Given the description of an element on the screen output the (x, y) to click on. 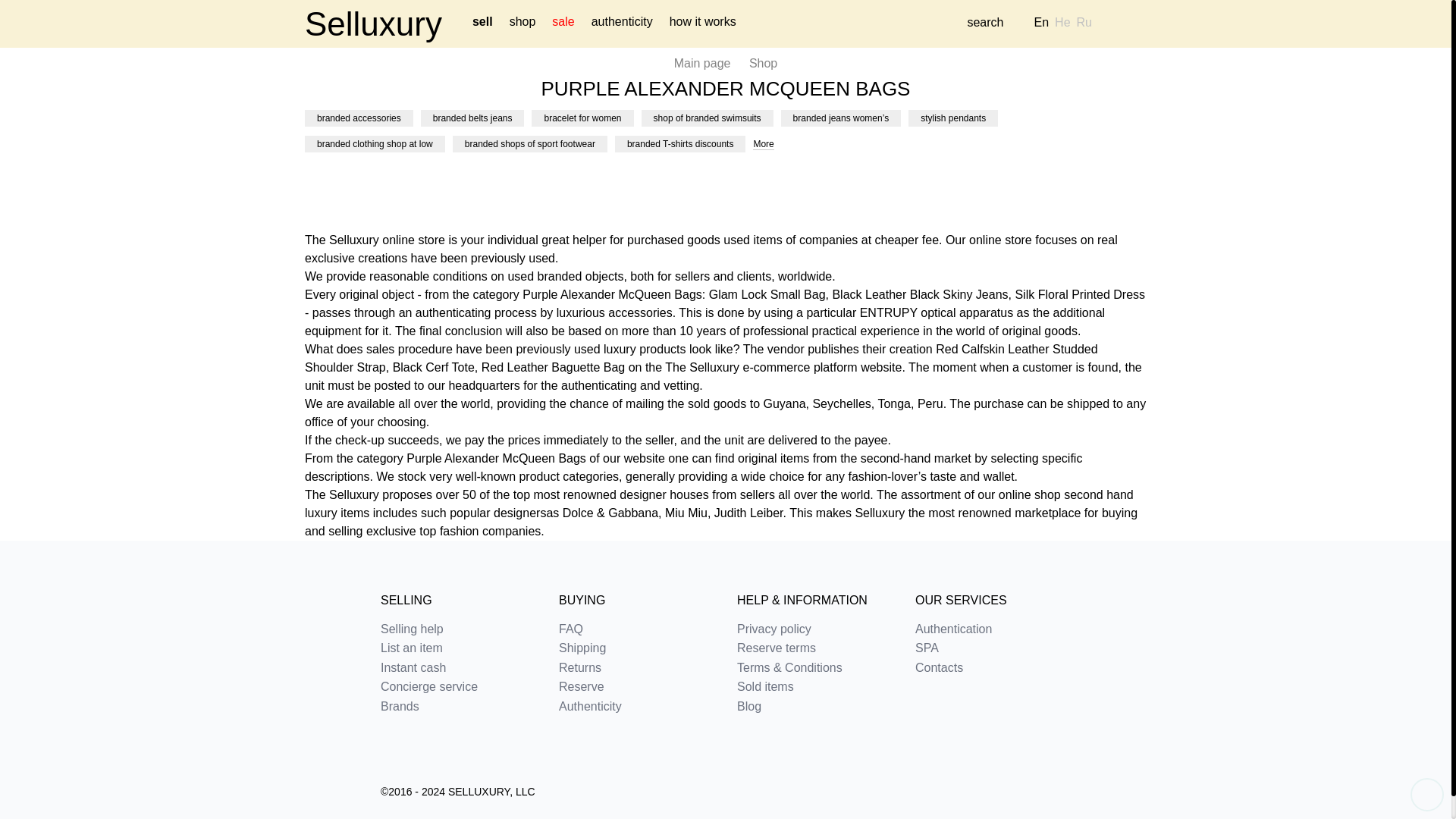
Shipping (636, 648)
branded T-shirts discounts (679, 143)
Brands (457, 706)
shop of branded swimsuits (707, 117)
Reserve (636, 686)
branded clothing shop at low (374, 143)
Selluxury (373, 23)
authenticity (621, 23)
List an item (457, 648)
selluxury (373, 23)
Main page (702, 62)
branded shops of sport footwear (529, 143)
Main page (702, 62)
Ru (1084, 24)
bracelet for women (582, 117)
